Given the description of an element on the screen output the (x, y) to click on. 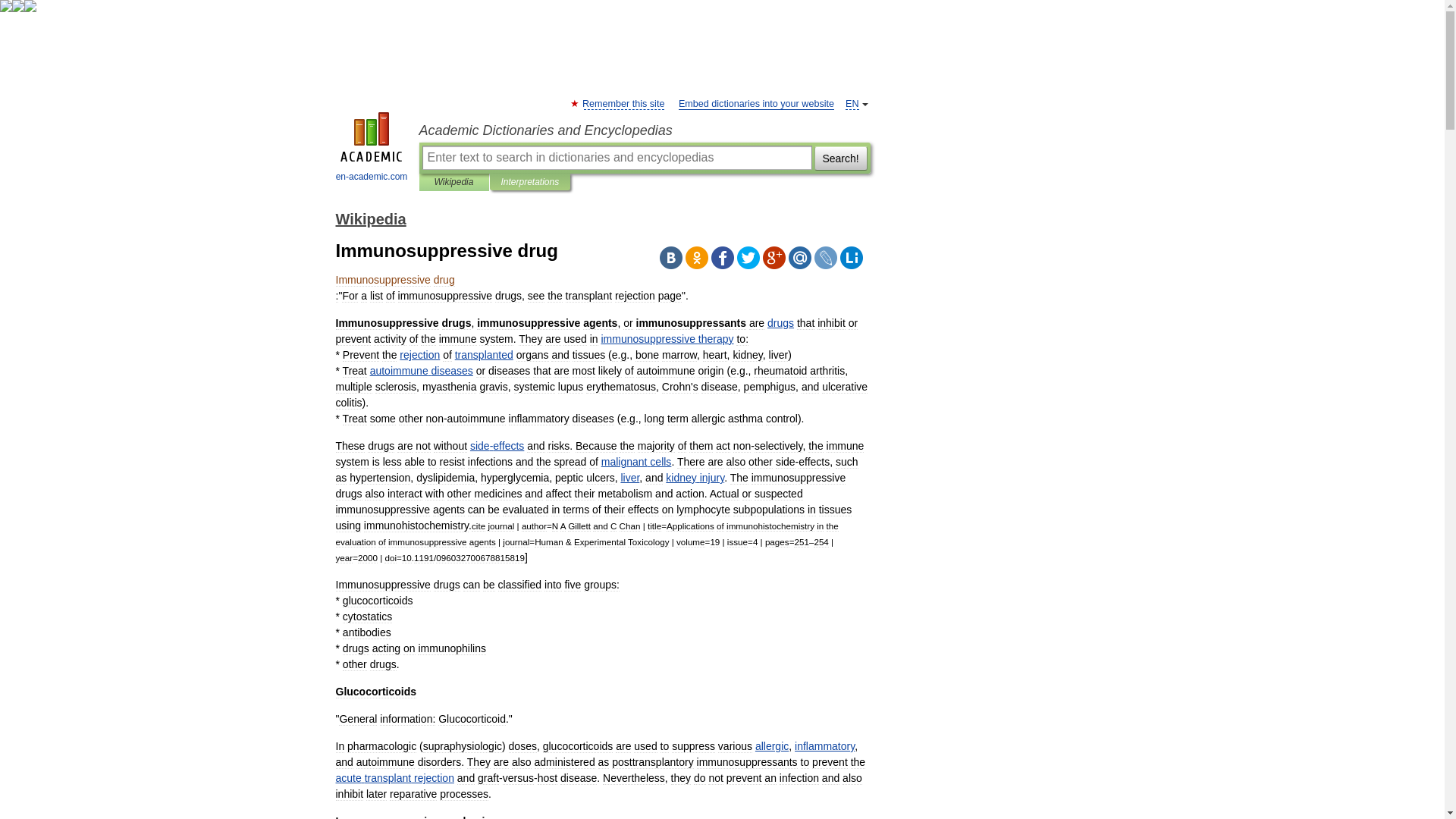
rejection (418, 354)
Wikipedia (453, 181)
Academic Dictionaries and Encyclopedias (644, 130)
inflammatory (824, 746)
Wikipedia (370, 218)
acute transplant rejection (393, 777)
malignant cells (636, 461)
Enter text to search in dictionaries and encyclopedias (616, 157)
allergic (772, 746)
Interpretations (529, 181)
